Given the description of an element on the screen output the (x, y) to click on. 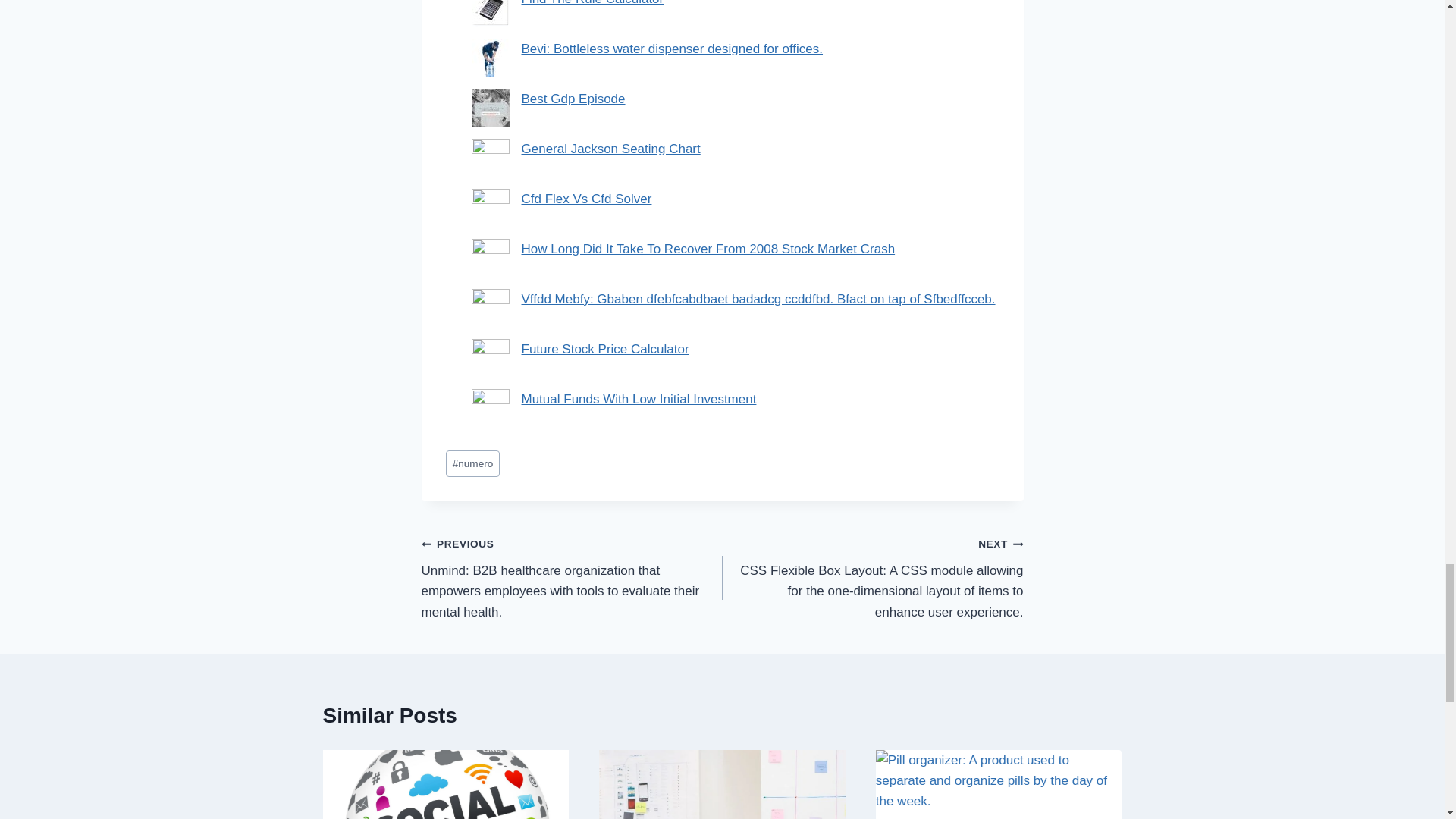
numero (472, 463)
Best Gdp Episode (573, 98)
Bevi: Bottleless water dispenser designed for offices. (672, 48)
General Jackson Seating Chart (610, 148)
Find The Rule Calculator (592, 2)
Cfd Flex Vs Cfd Solver (586, 198)
